Given the description of an element on the screen output the (x, y) to click on. 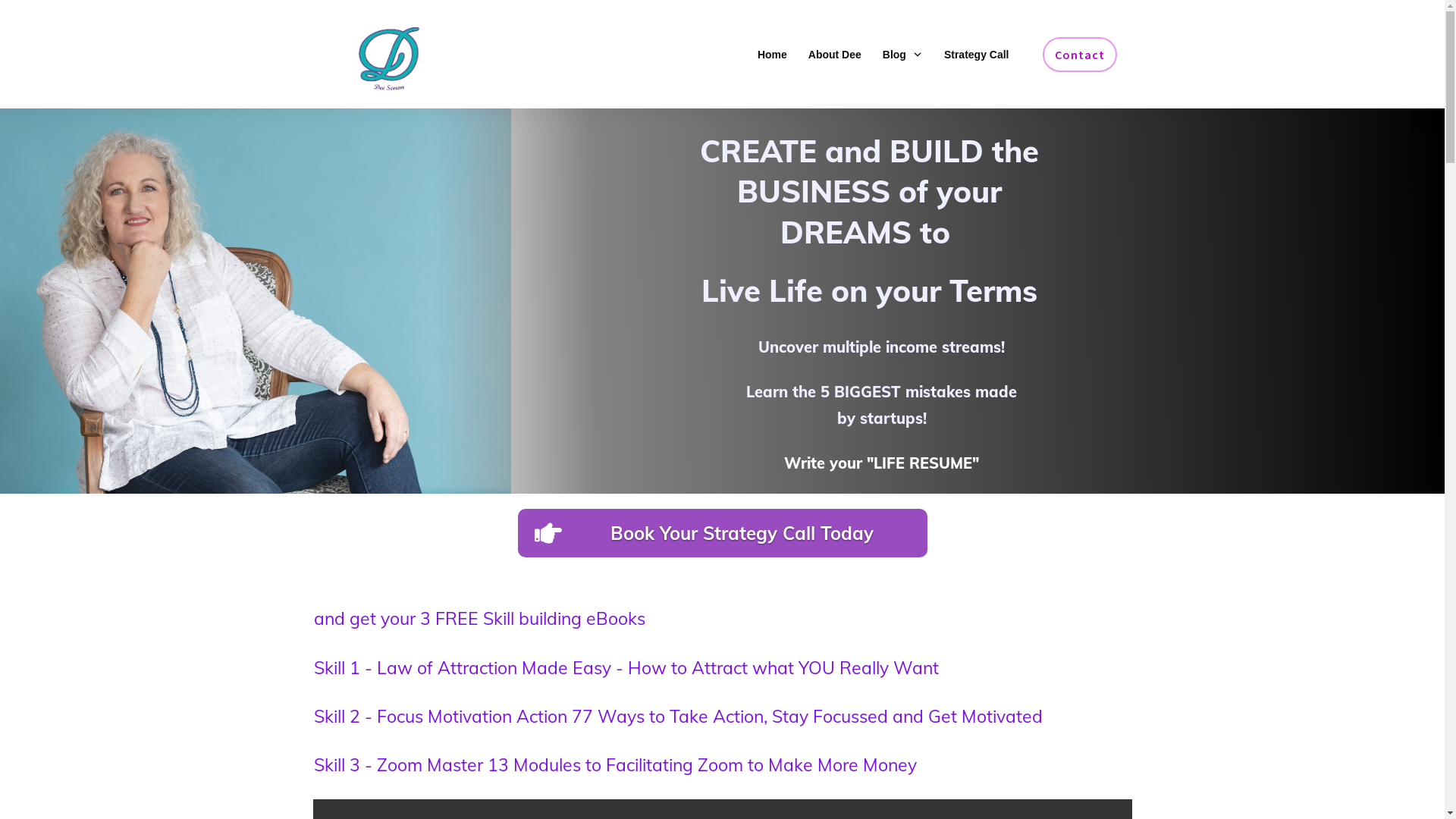
Book Your Strategy Call Today Element type: text (721, 532)
Strategy Call Element type: text (976, 54)
About Dee Element type: text (834, 54)
Contact Element type: text (1079, 54)
Home Element type: text (772, 54)
Blog Element type: text (902, 54)
